Given the description of an element on the screen output the (x, y) to click on. 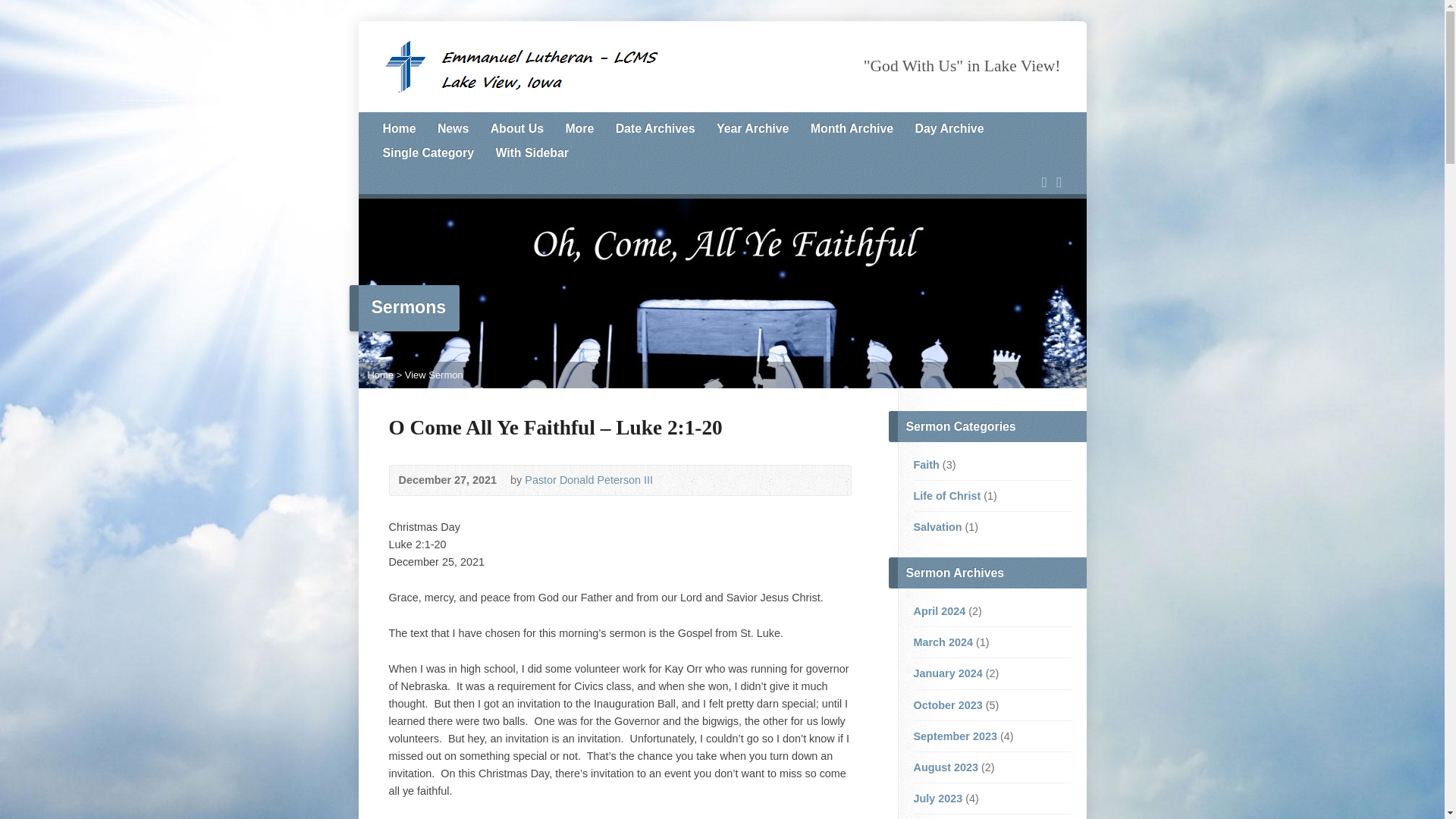
About Us (516, 128)
Pastor Donald Peterson III (588, 480)
Home (379, 374)
September 2023 (953, 736)
Date Archives (655, 128)
July 2023 (937, 798)
News (453, 128)
October 2023 (946, 705)
March 2024 (942, 642)
Salvation (936, 526)
Faith (925, 464)
Month Archive (851, 128)
Day Archive (949, 128)
Life of Christ (945, 495)
Home (397, 128)
